Given the description of an element on the screen output the (x, y) to click on. 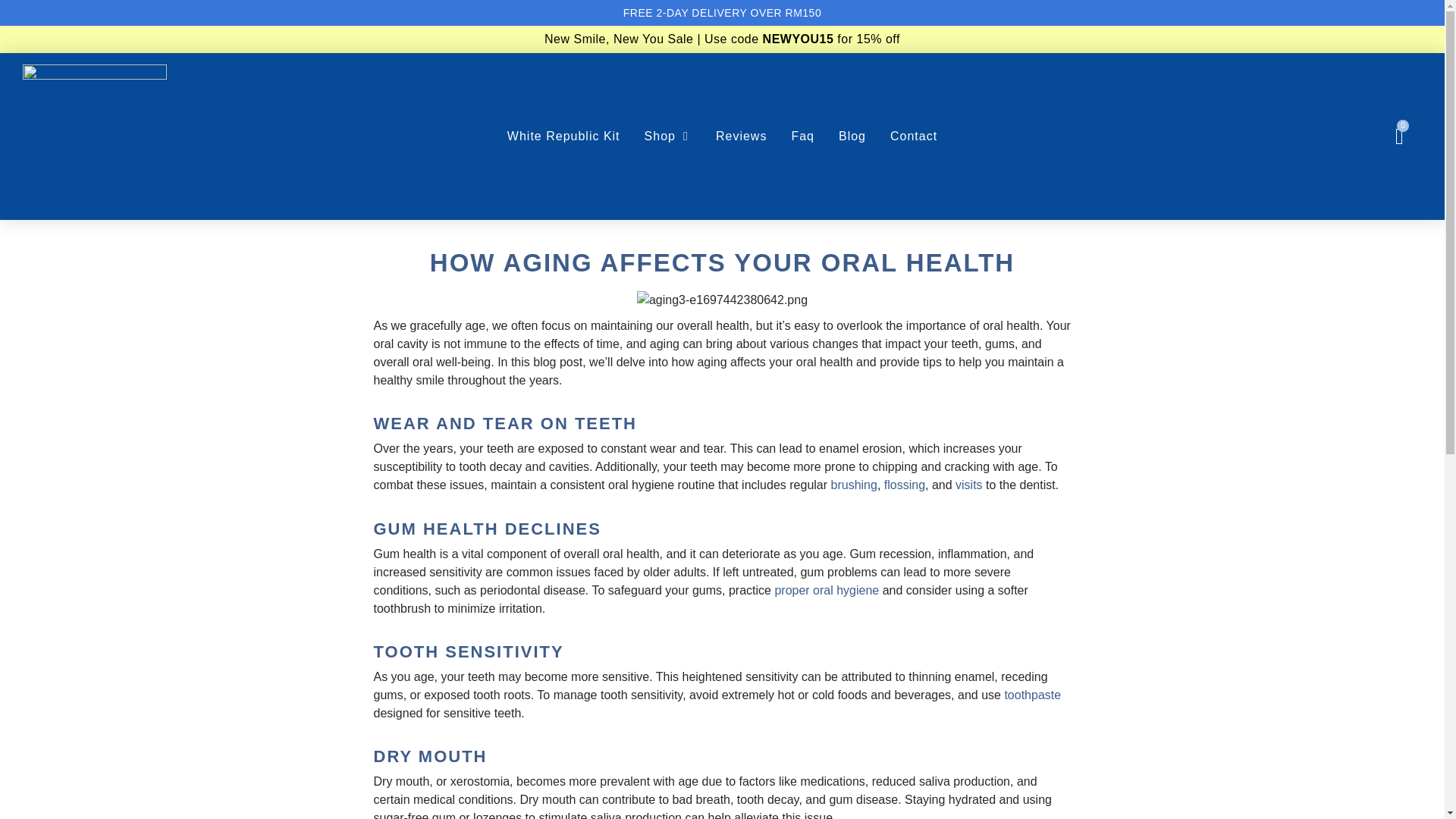
aging3-e1697442380642.png (722, 300)
